Given the description of an element on the screen output the (x, y) to click on. 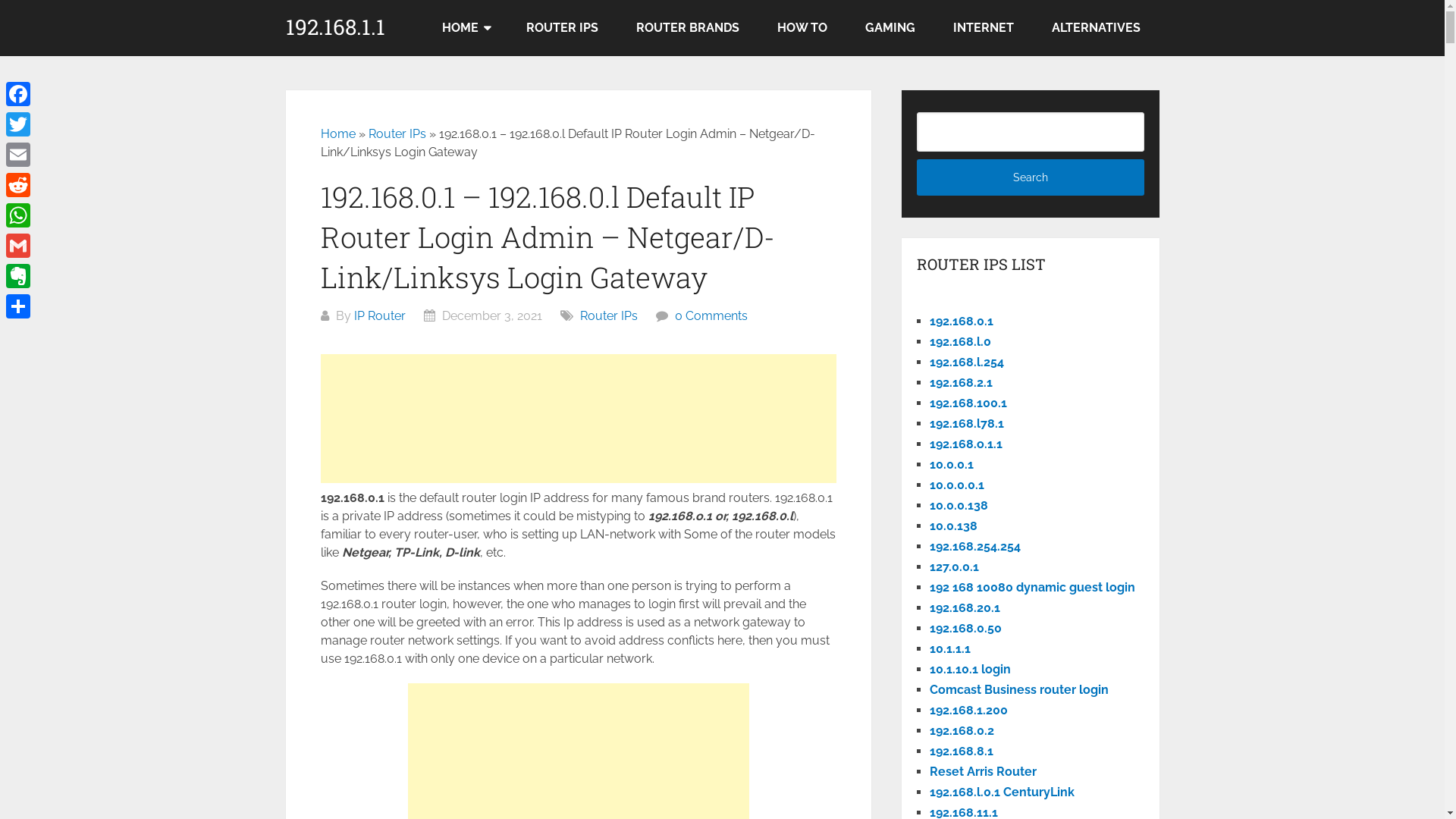
GAMING Element type: text (890, 28)
Reset Arris Router Element type: text (982, 771)
Reddit Element type: text (18, 184)
IP Router Element type: text (378, 315)
10.0.0.0.1 Element type: text (956, 484)
192.168.2.1 Element type: text (960, 382)
Comcast Business router login Element type: text (1018, 689)
10.1.10.1 login Element type: text (969, 669)
192.168.0.1 Element type: text (961, 320)
192 168 10080 dynamic guest login Element type: text (1032, 587)
Share Element type: text (18, 306)
192.168.l.0 Element type: text (960, 341)
Advertisement Element type: hover (577, 418)
10.0.138 Element type: text (953, 525)
192.168.254.254 Element type: text (974, 546)
Home Element type: text (337, 133)
Twitter Element type: text (18, 124)
192.168.1.200 Element type: text (968, 709)
192.168.100.1 Element type: text (968, 402)
192.168.20.1 Element type: text (964, 607)
192.168.8.1 Element type: text (961, 750)
Email Element type: text (18, 154)
Facebook Element type: text (18, 93)
10.0.0.138 Element type: text (958, 505)
ROUTER IPS Element type: text (561, 28)
HOME Element type: text (465, 28)
WhatsApp Element type: text (18, 215)
127.0.0.1 Element type: text (954, 566)
192.168.l78.1 Element type: text (966, 423)
Search Element type: text (1030, 177)
Evernote Element type: text (18, 275)
ROUTER BRANDS Element type: text (687, 28)
192.168.0.2 Element type: text (961, 730)
Router IPs Element type: text (608, 315)
10.1.1.1 Element type: text (949, 648)
192.168.0.50 Element type: text (965, 628)
192.168.o.1.1 Element type: text (965, 443)
HOW TO Element type: text (802, 28)
0 Comments Element type: text (710, 315)
INTERNET Element type: text (983, 28)
192.168.l.0.1 CenturyLink Element type: text (1001, 791)
Router IPs Element type: text (397, 133)
Gmail Element type: text (18, 245)
192.168.1.1 Element type: text (334, 26)
ALTERNATIVES Element type: text (1095, 28)
192.168.l.254 Element type: text (966, 361)
10.0.0.1 Element type: text (951, 464)
